Given the description of an element on the screen output the (x, y) to click on. 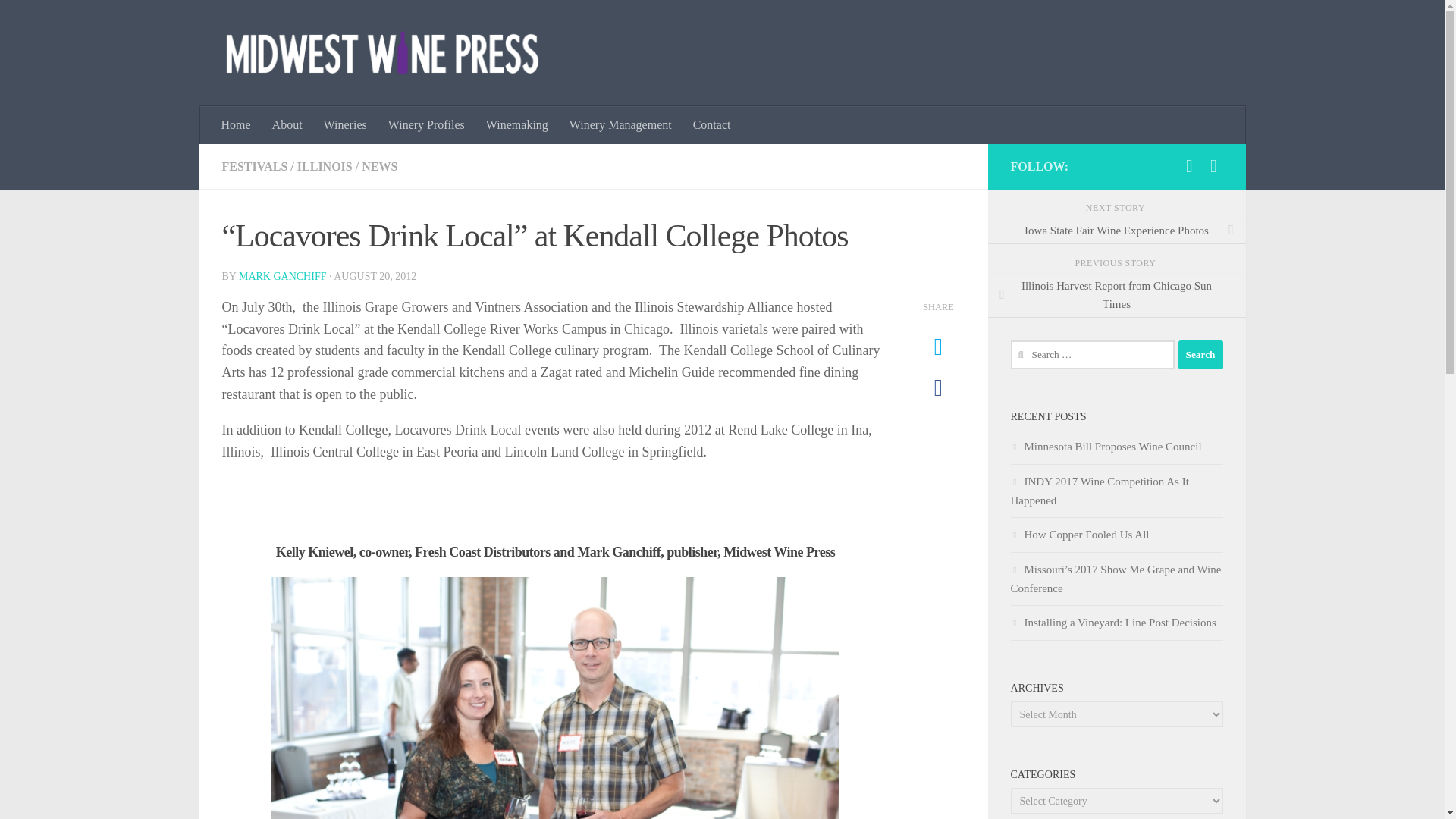
Skip to content (59, 20)
Home (236, 125)
Posts by Mark Ganchiff (282, 276)
Search (1200, 354)
Winery Profiles (426, 125)
Search (1200, 354)
Follow us on Twitter (1213, 166)
Wineries (345, 125)
Winemaking (517, 125)
ILLINOIS (324, 165)
FESTIVALS (253, 165)
NEWS (379, 165)
About (287, 125)
Winery Management (620, 125)
